Given the description of an element on the screen output the (x, y) to click on. 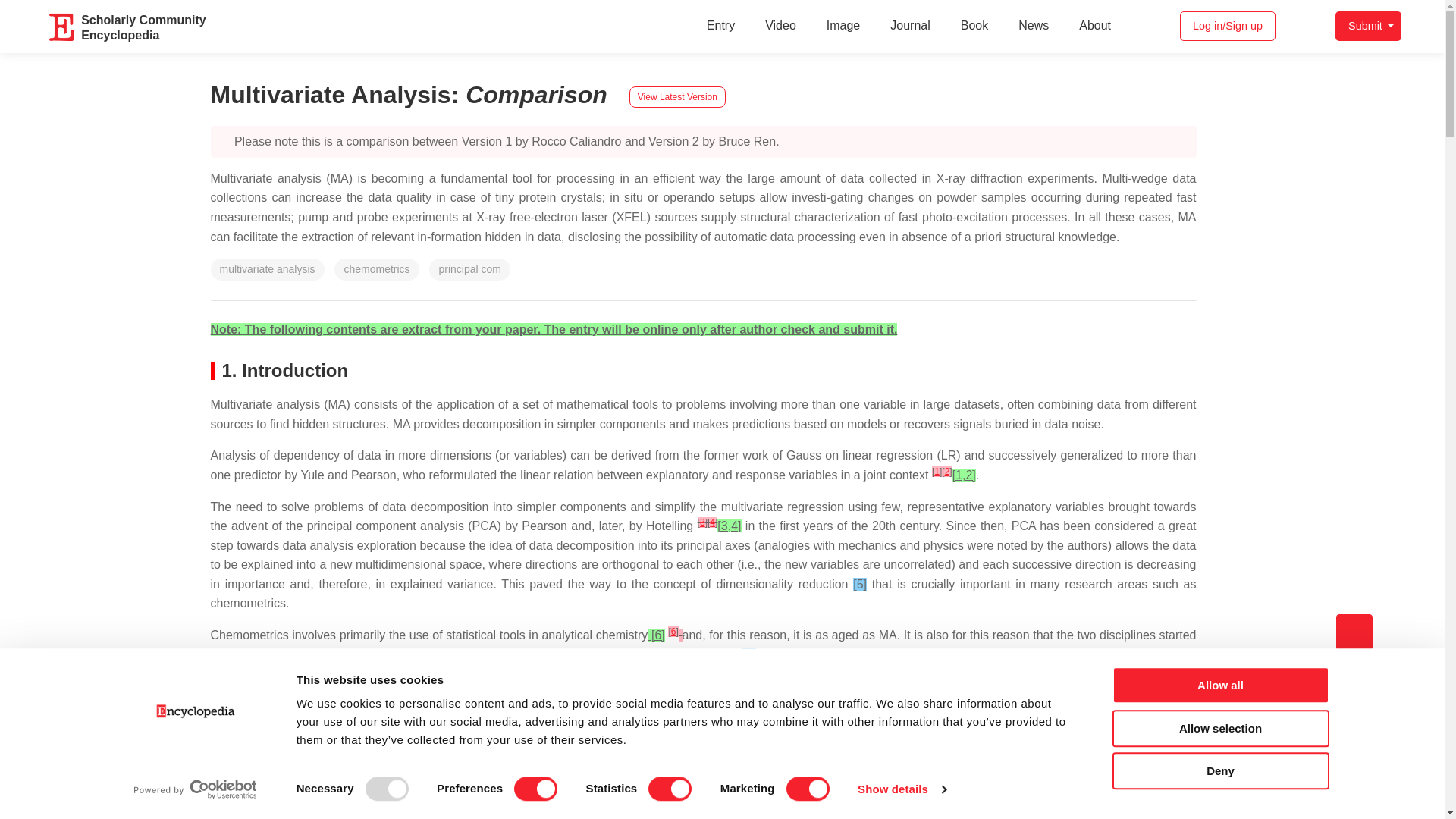
Show details (900, 789)
View latest version (676, 96)
